Given the description of an element on the screen output the (x, y) to click on. 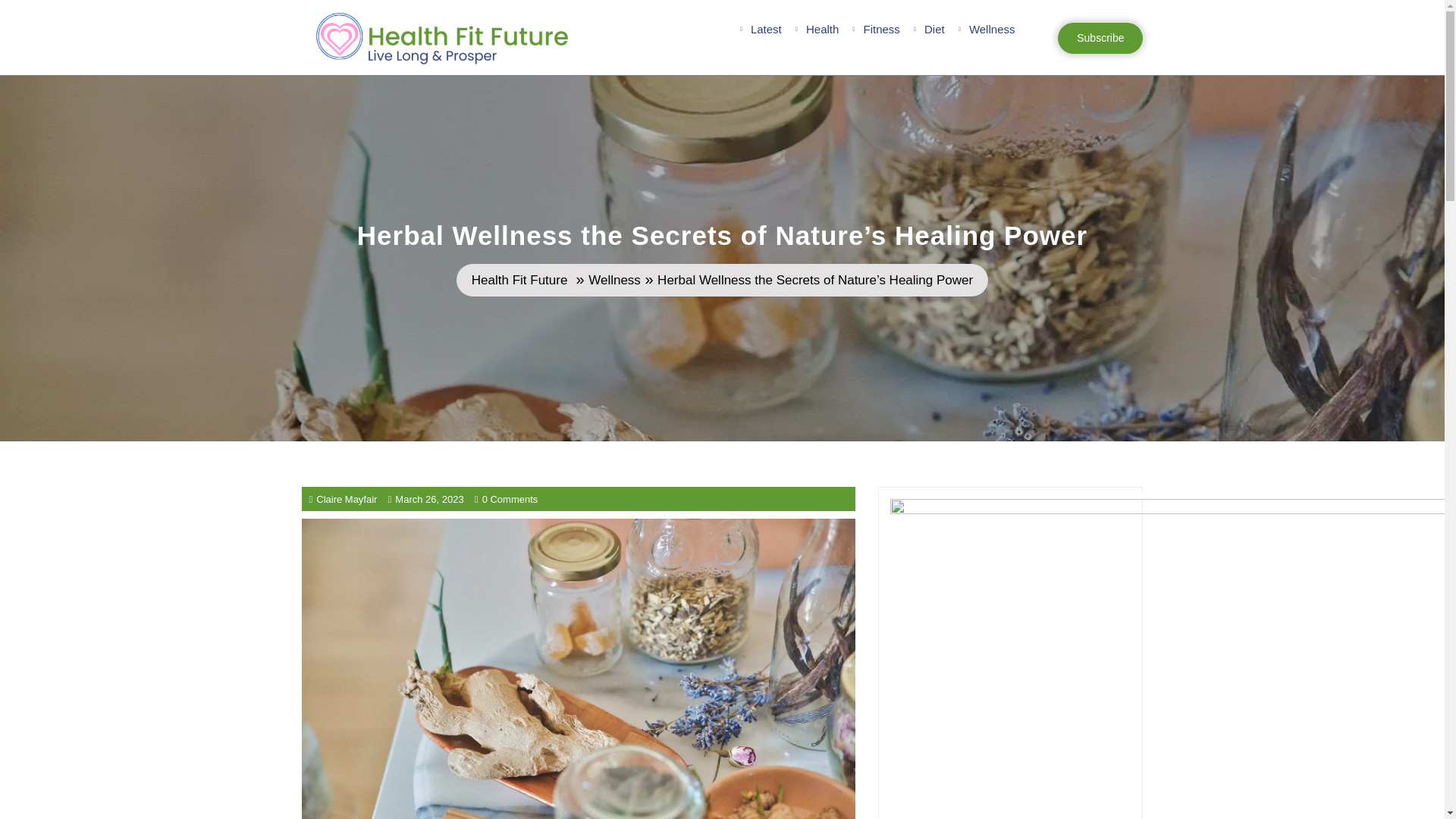
Health (821, 29)
Health Fit Future (1100, 38)
Wellness (519, 280)
Diet (992, 29)
Wellness (934, 29)
Fitness (614, 280)
Latest (880, 29)
